Given the description of an element on the screen output the (x, y) to click on. 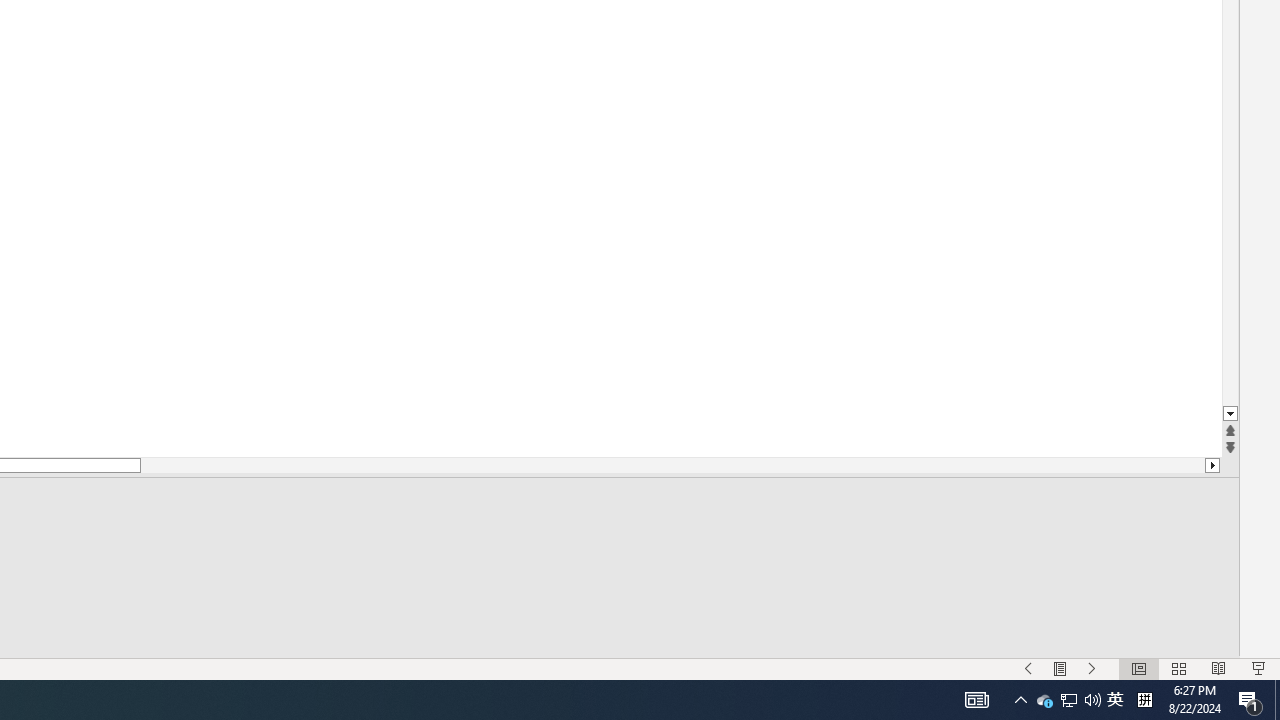
Slide Show Next On (1092, 668)
Menu On (1060, 668)
Slide Show Previous On (1028, 668)
